Given the description of an element on the screen output the (x, y) to click on. 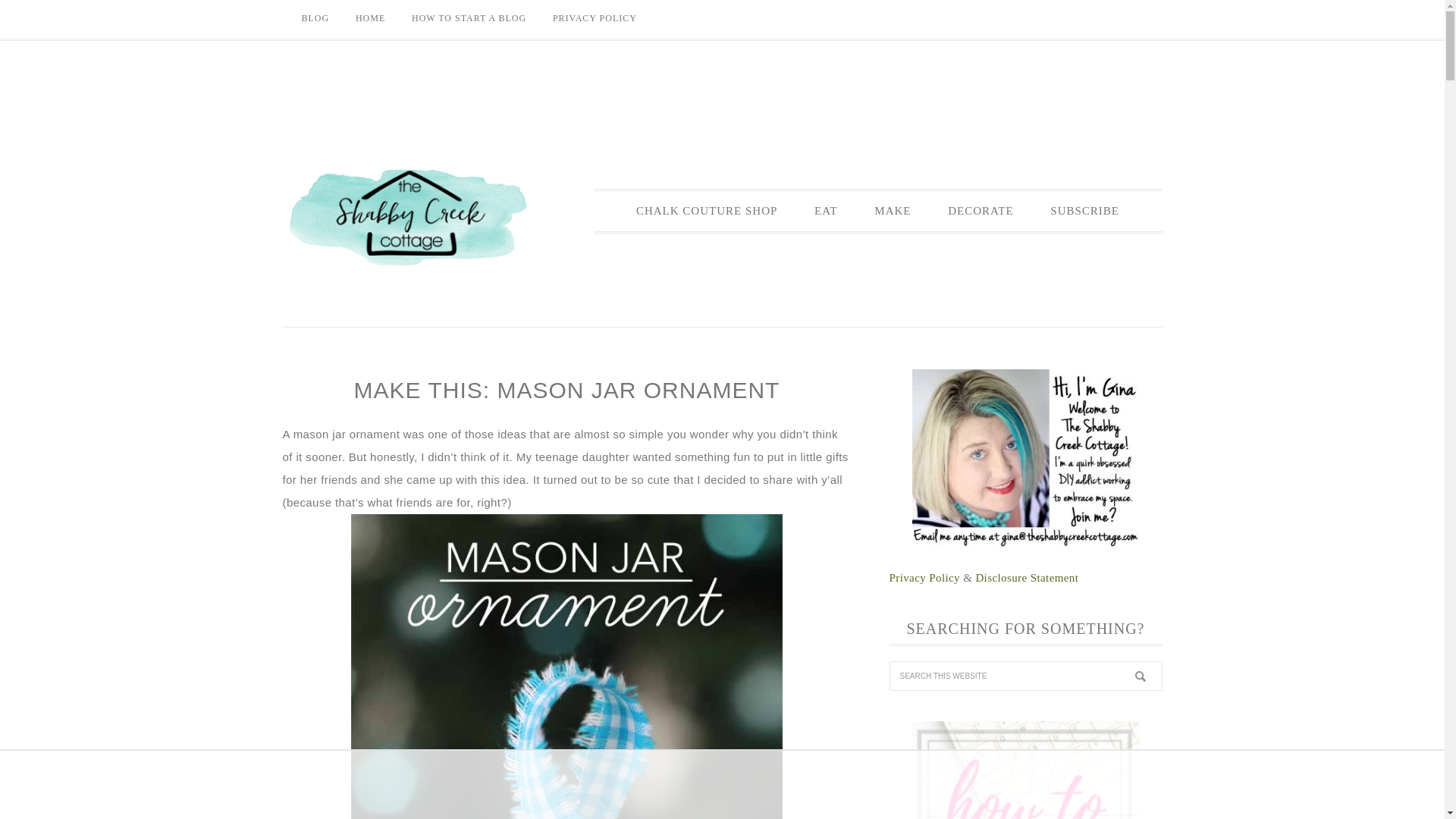
HOME (369, 18)
SUBSCRIBE (1084, 210)
HOW TO START A BLOG (468, 18)
MAKE (892, 210)
CHALK COUTURE SHOP (706, 210)
THE SHABBY CREEK COTTAGE (407, 217)
PRIVACY POLICY (594, 18)
BLOG (314, 18)
EAT (825, 210)
DECORATE (980, 210)
